Given the description of an element on the screen output the (x, y) to click on. 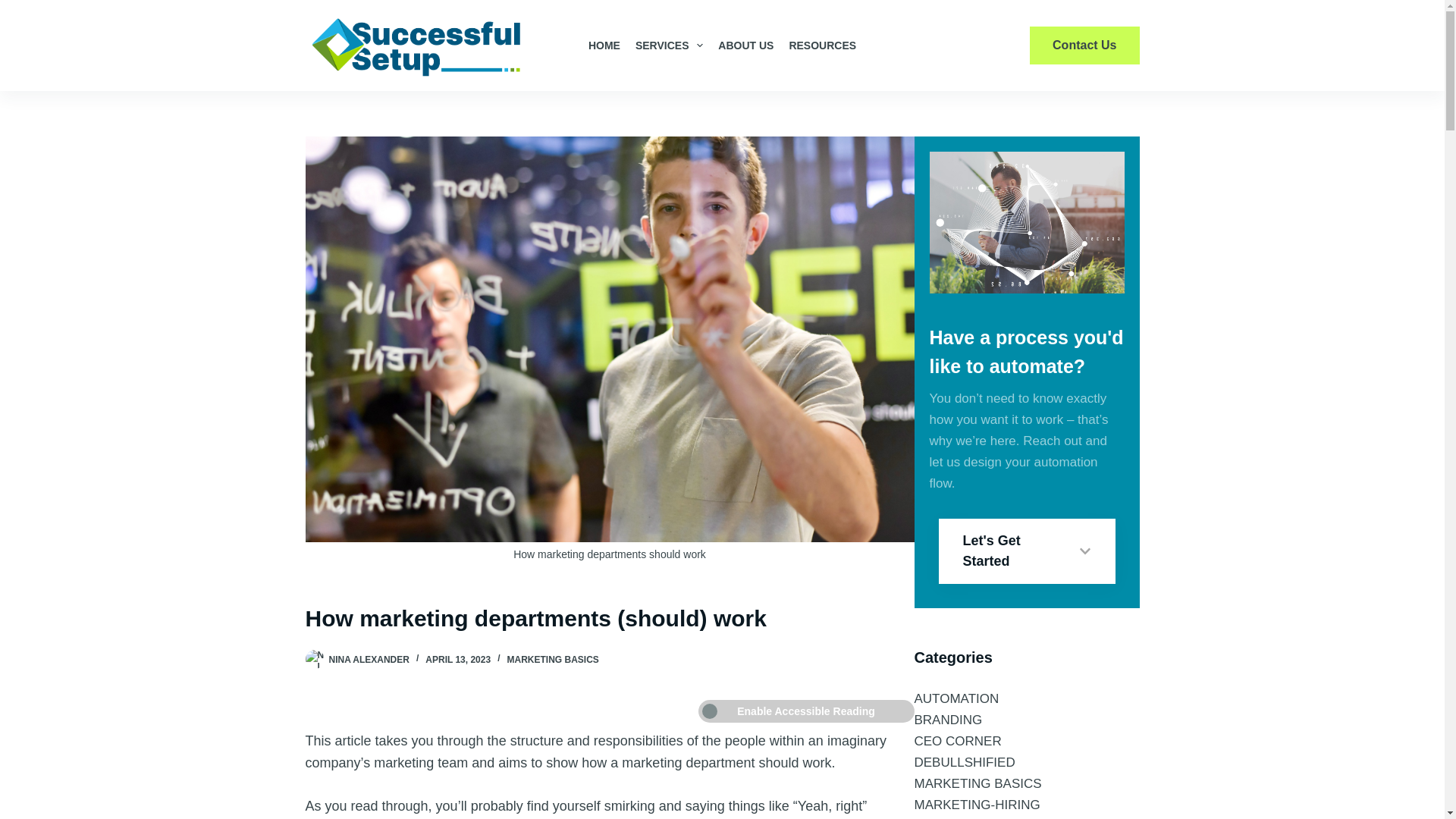
RESOURCES (821, 45)
NINA ALEXANDER (369, 659)
CEO CORNER (957, 740)
MARKETING BASICS (552, 659)
Posts by Nina Alexander (369, 659)
Skip to content (15, 7)
MARKETING BASICS (978, 783)
MARKETING-HIRING (977, 804)
BRANDING (948, 719)
DEBULLSHIFIED (964, 762)
SERVICES (668, 45)
AUTOMATION (956, 698)
Contact Us (1083, 45)
